Given the description of an element on the screen output the (x, y) to click on. 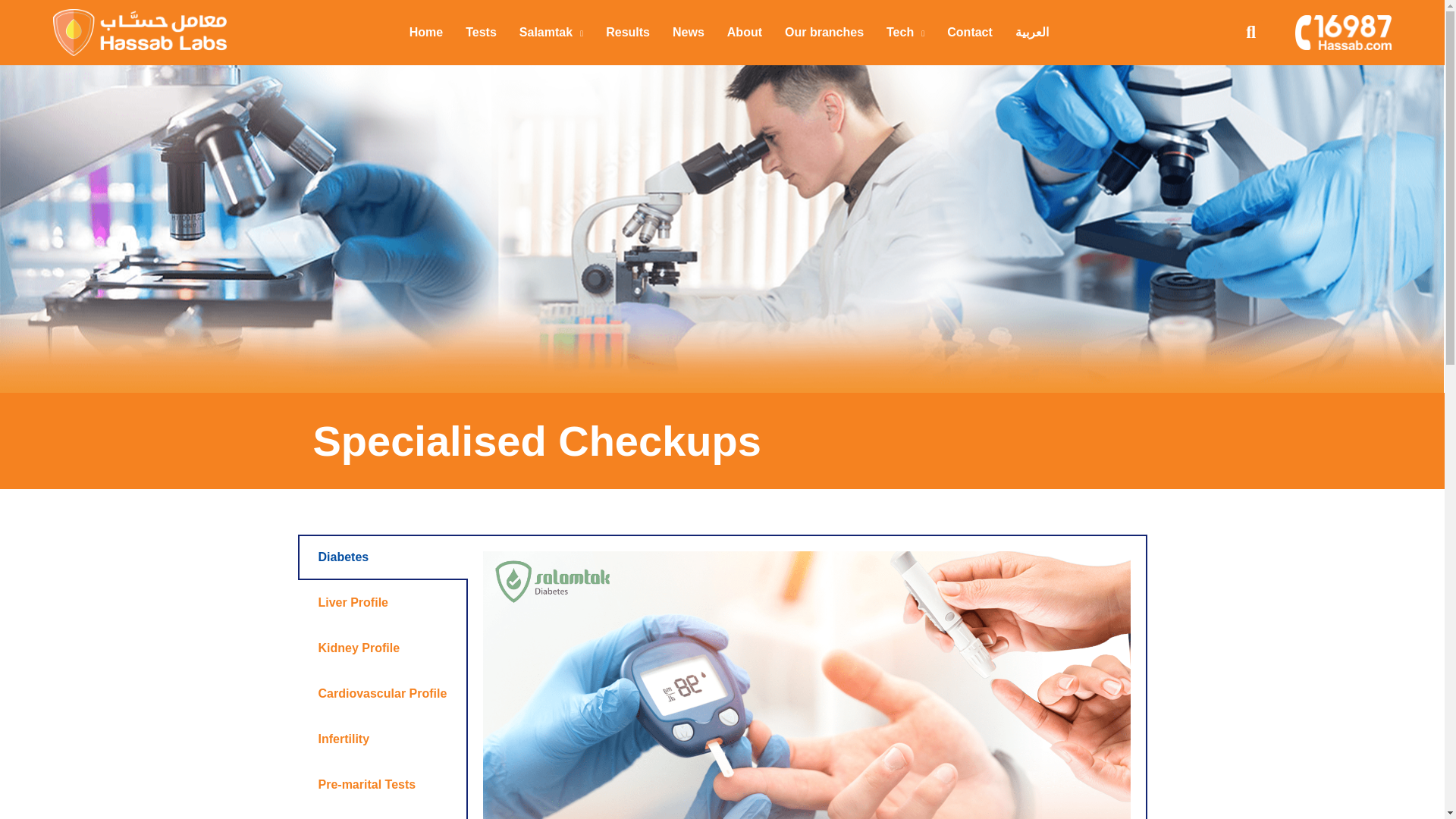
Home (425, 31)
Tests (480, 31)
About (743, 31)
Tech (905, 31)
Results (627, 31)
Contact (969, 31)
Salamtak (551, 31)
Our branches (823, 31)
News (688, 31)
